Given the description of an element on the screen output the (x, y) to click on. 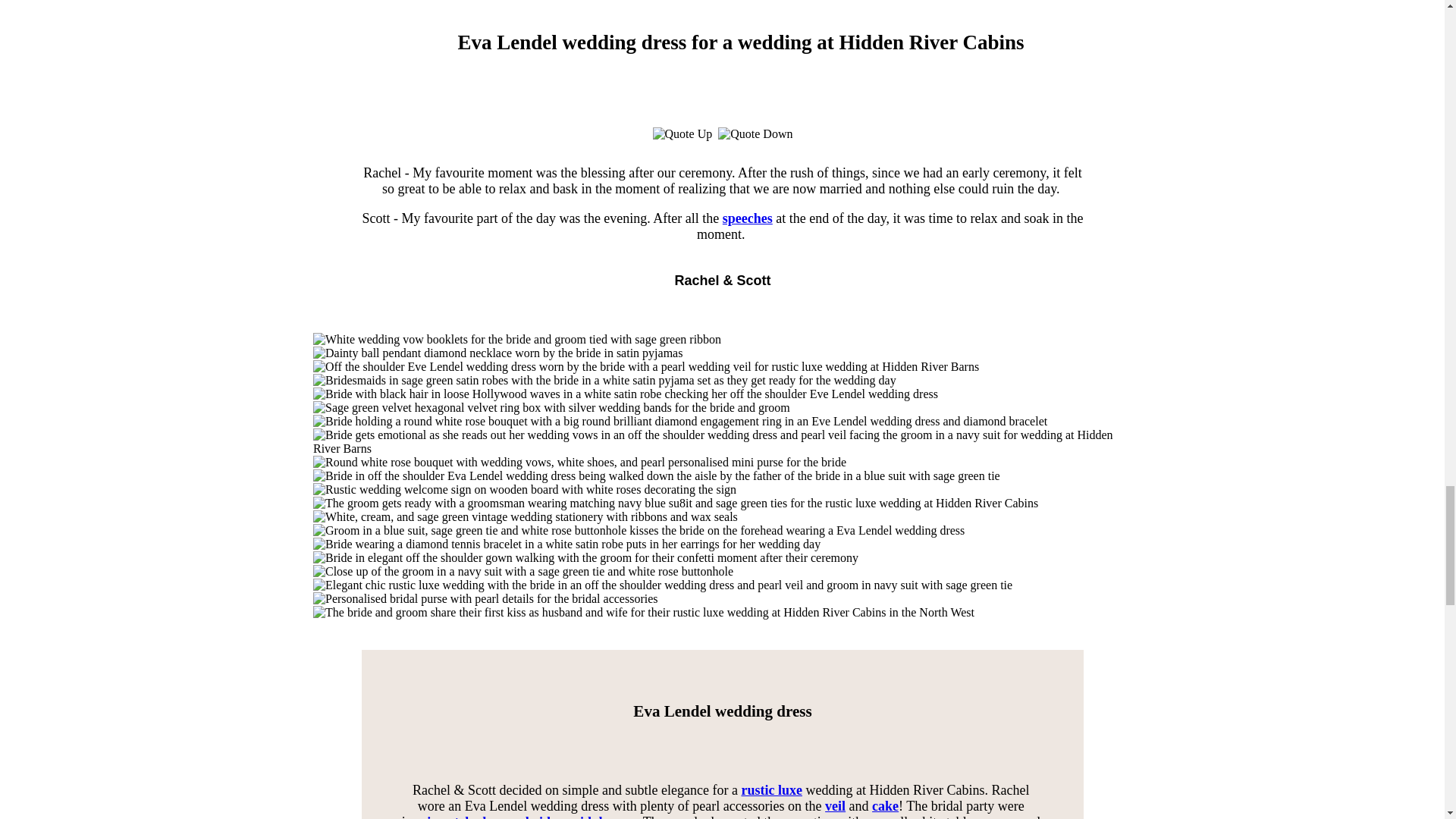
mismatched (450, 816)
cake (885, 806)
rustic luxe (771, 789)
veil (835, 806)
speeches (746, 218)
green bridesmaid dresses (561, 816)
